Given the description of an element on the screen output the (x, y) to click on. 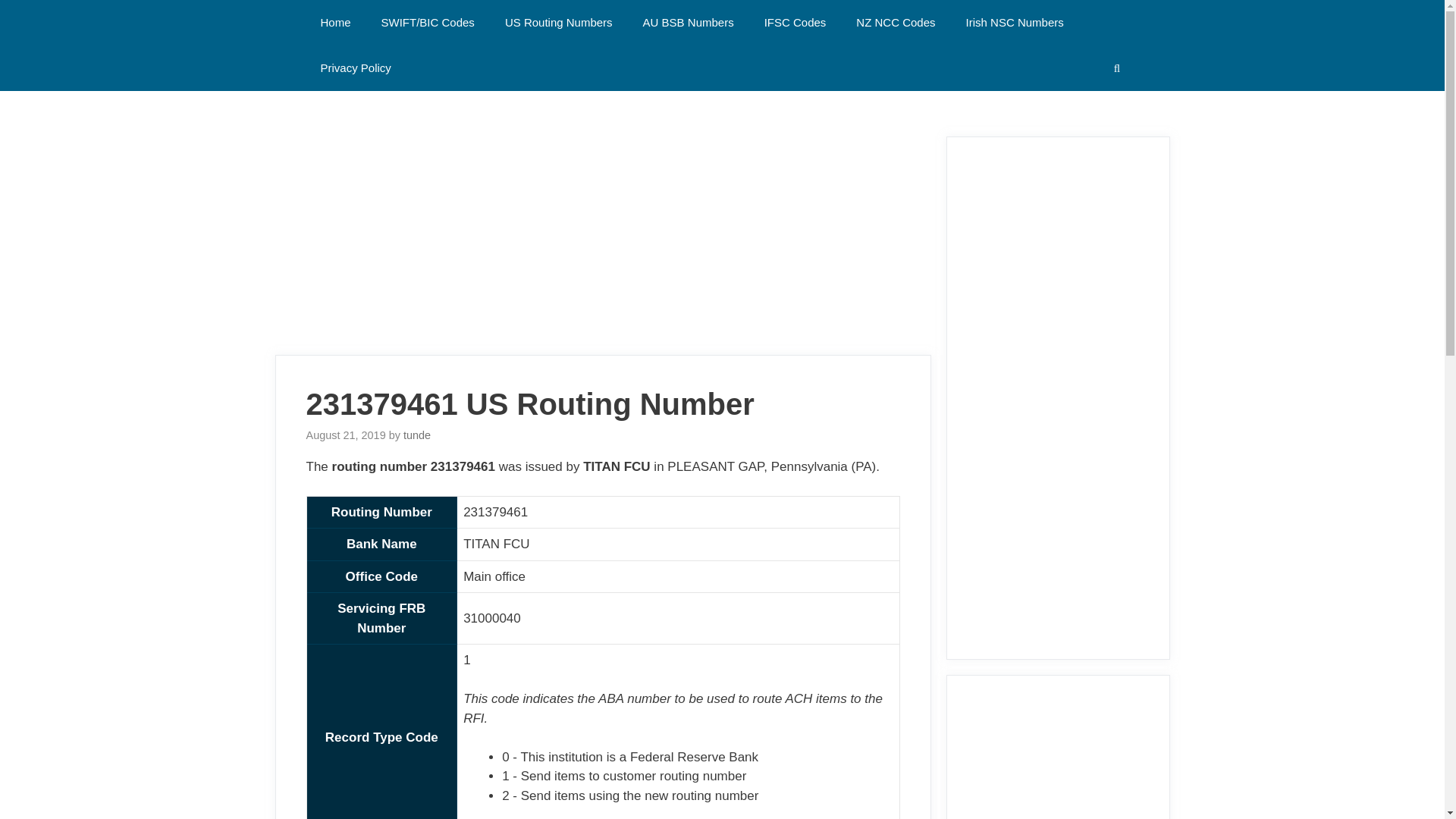
Privacy Policy (355, 67)
NZ NCC Codes (895, 22)
AU BSB Numbers (688, 22)
US Routing Numbers (558, 22)
Advertisement (1057, 762)
View all posts by tunde (416, 435)
Home (334, 22)
tunde (416, 435)
IFSC Codes (795, 22)
Irish NSC Numbers (1014, 22)
